Given the description of an element on the screen output the (x, y) to click on. 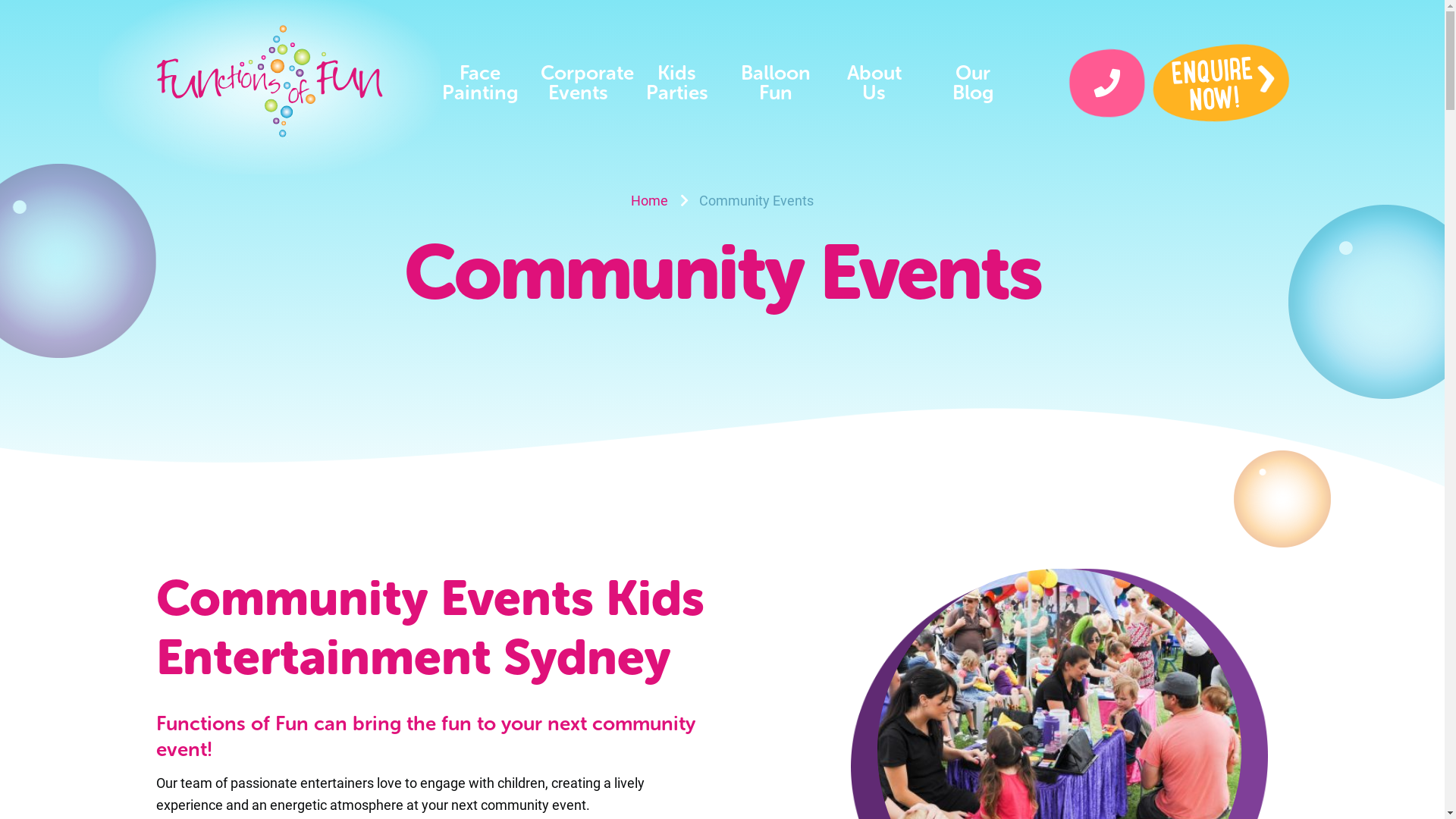
Face Painting Element type: text (479, 83)
Our Blog Element type: text (972, 83)
About Us Element type: text (874, 83)
Corporate Events Element type: text (578, 83)
Kids Parties Element type: text (677, 83)
Home Element type: text (649, 200)
Balloon Fun Element type: text (775, 83)
ENQUIRE NOW! Element type: text (1217, 78)
